Given the description of an element on the screen output the (x, y) to click on. 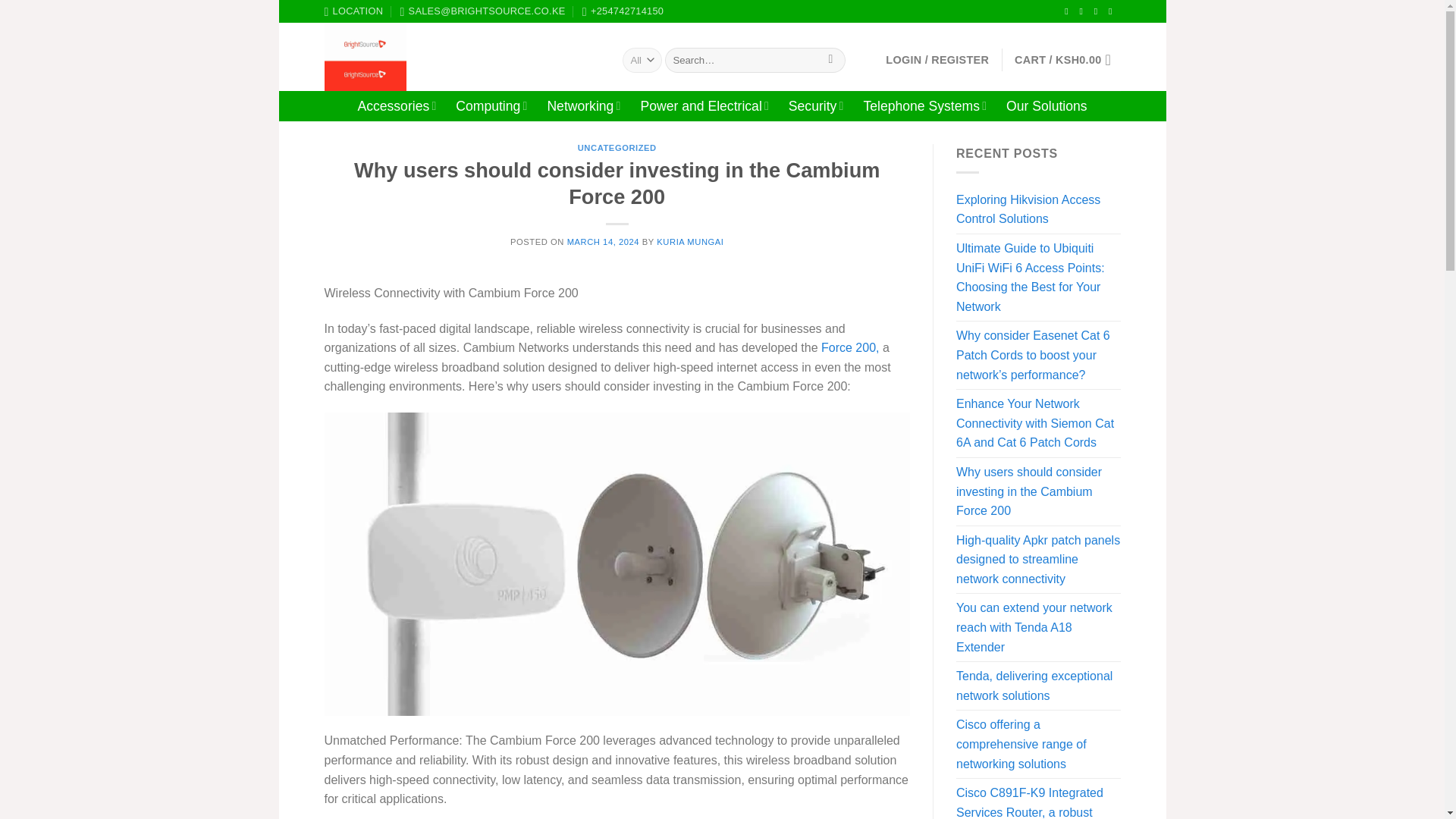
Brightsource Kenya - Technology Everyday (461, 56)
LOCATION (354, 11)
Search (830, 60)
Accessories (395, 105)
Computing (491, 105)
KIMATHI STREET (354, 11)
